Given the description of an element on the screen output the (x, y) to click on. 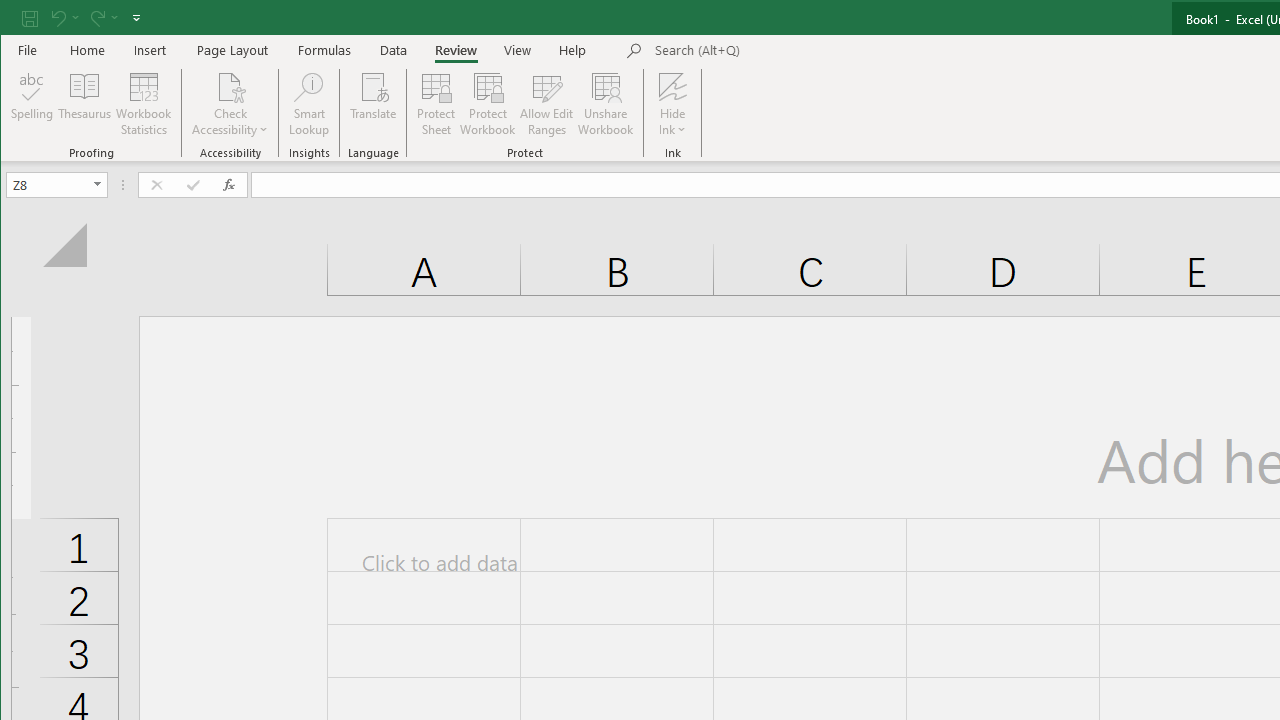
Spelling... (32, 104)
Workbook Statistics (143, 104)
Smart Lookup (308, 104)
